Given the description of an element on the screen output the (x, y) to click on. 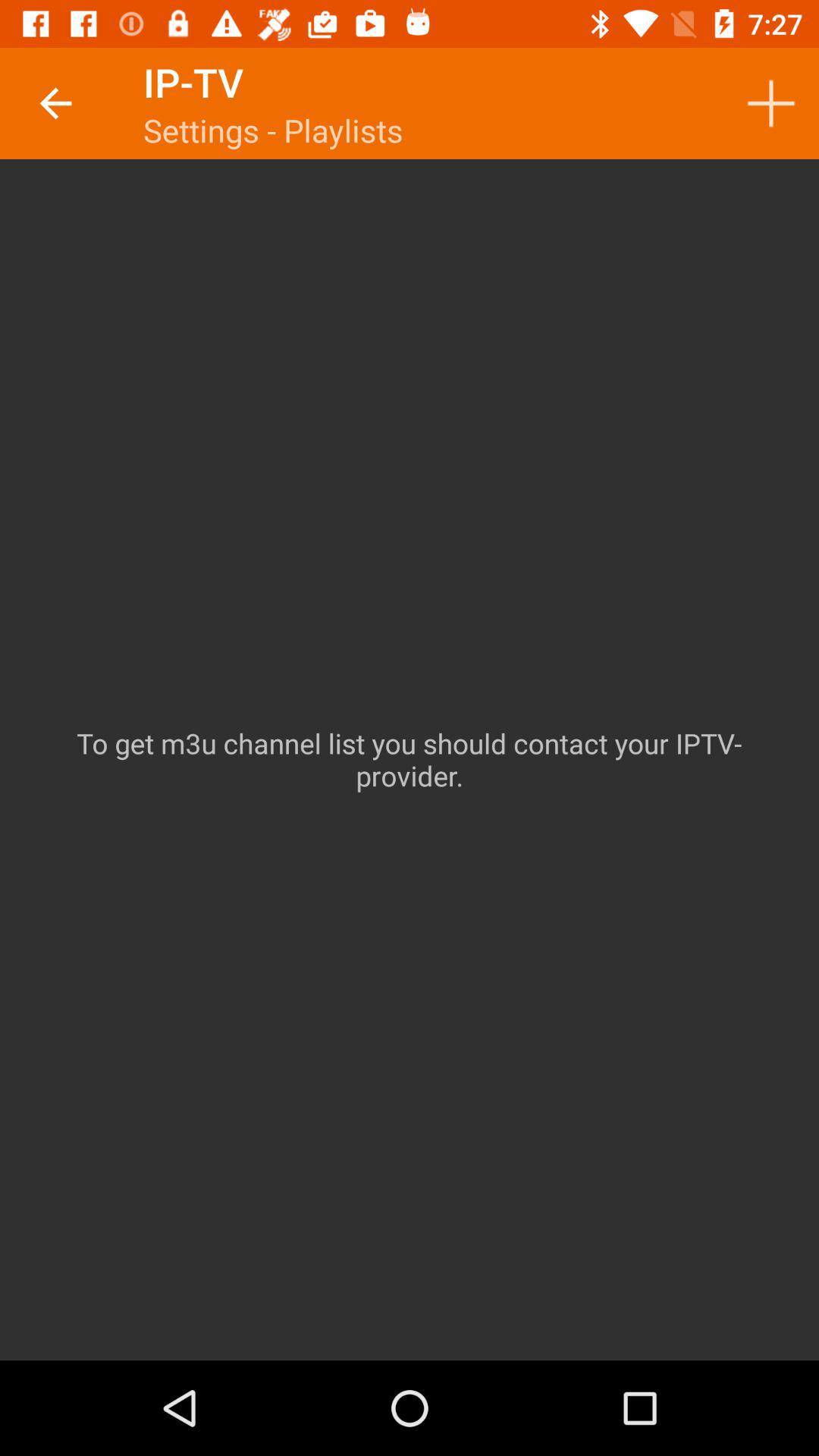
select the item at the top right corner (771, 103)
